Given the description of an element on the screen output the (x, y) to click on. 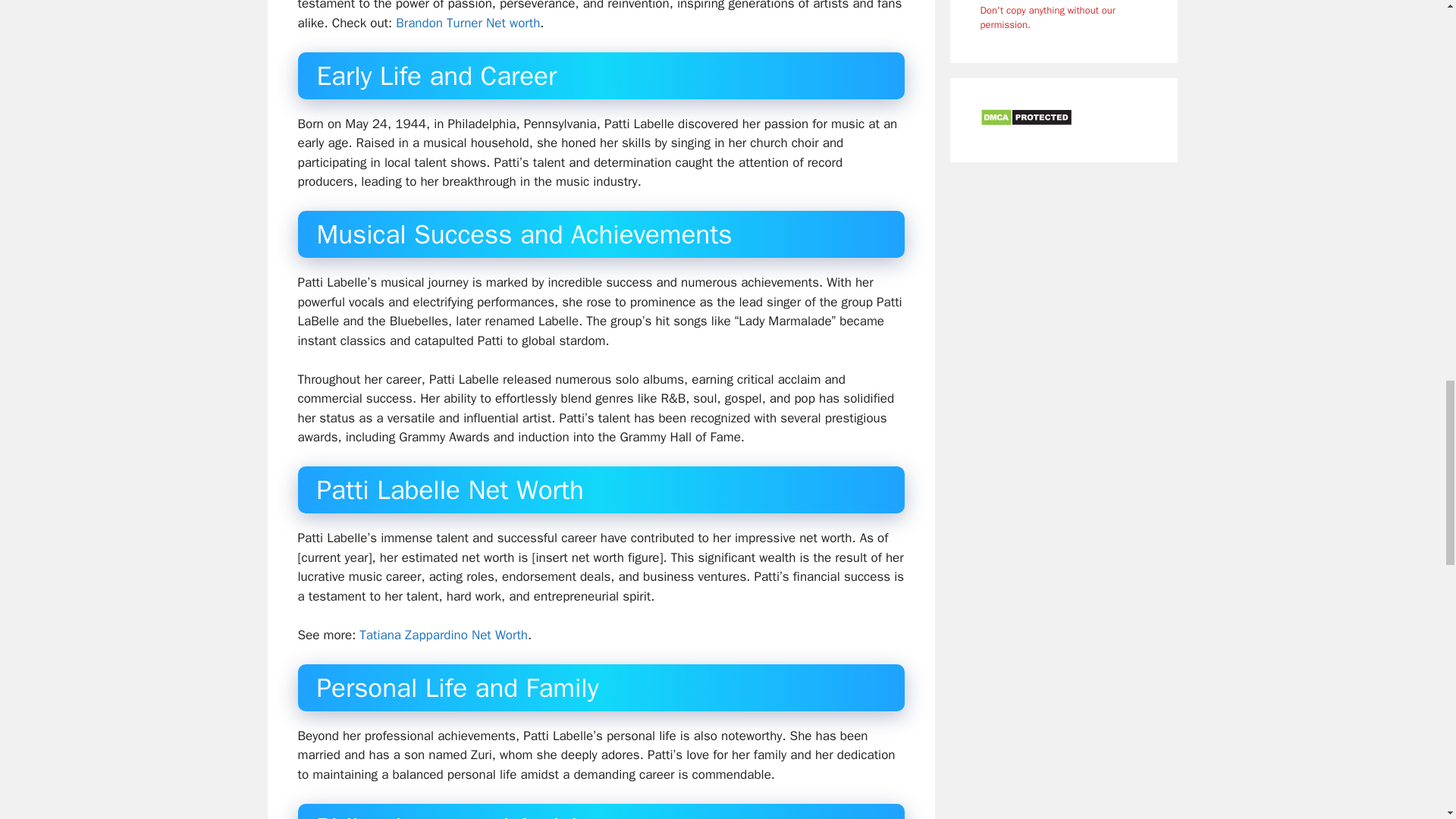
Brandon Turner Net worth (468, 23)
DMCA.com Protection Status (1025, 121)
Tatiana Zappardino Net Worth (443, 634)
